Given the description of an element on the screen output the (x, y) to click on. 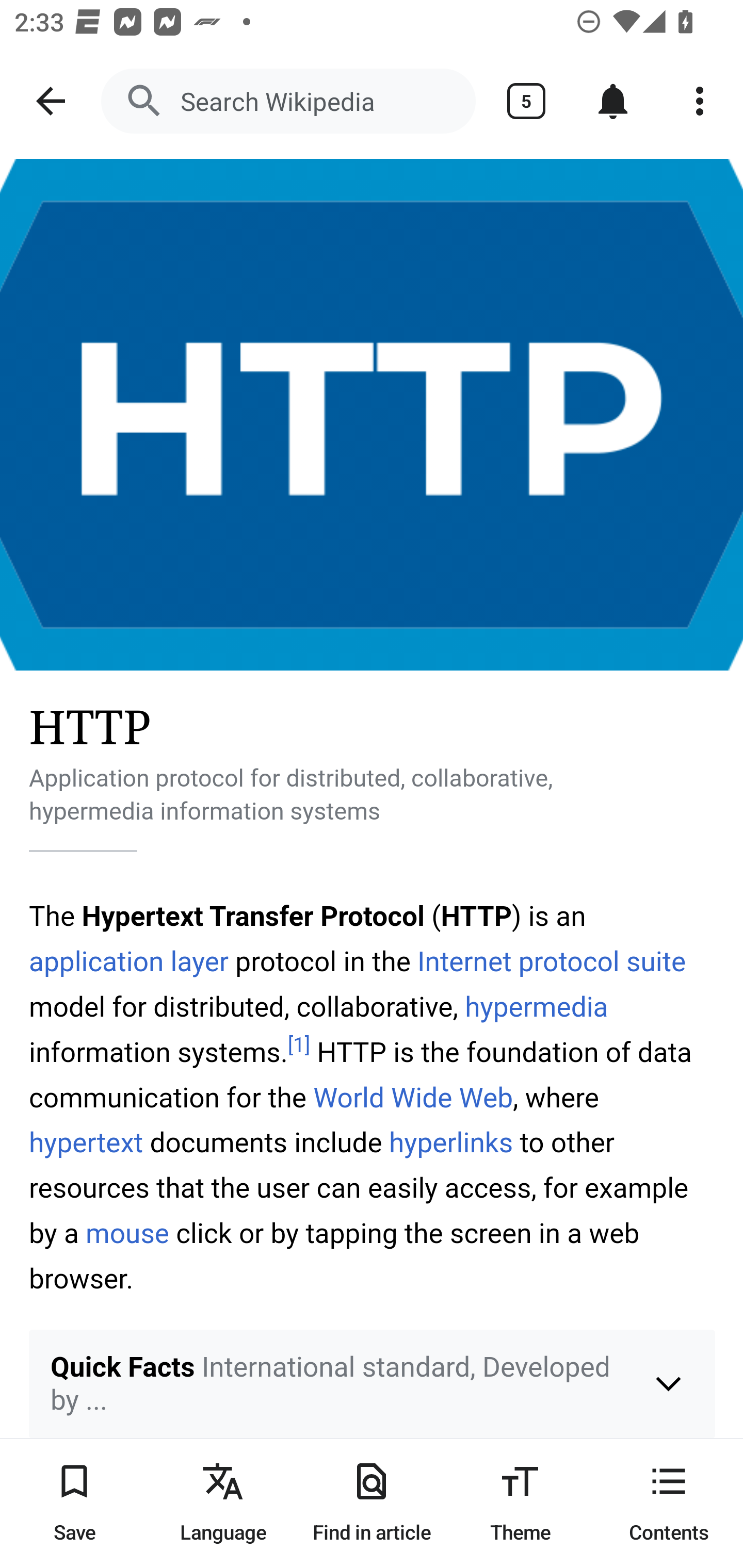
Show tabs 5 (525, 100)
Notifications (612, 100)
Navigate up (50, 101)
More options (699, 101)
Search Wikipedia (288, 100)
Image: HTTP (371, 414)
application layer (128, 961)
Internet protocol suite (552, 961)
hypermedia (535, 1007)
[] [ 1 ] (299, 1045)
World Wide Web (413, 1098)
hypertext (86, 1142)
hyperlinks (450, 1142)
mouse (127, 1233)
Save (74, 1502)
Language (222, 1502)
Find in article (371, 1502)
Theme (519, 1502)
Contents (668, 1502)
